Given the description of an element on the screen output the (x, y) to click on. 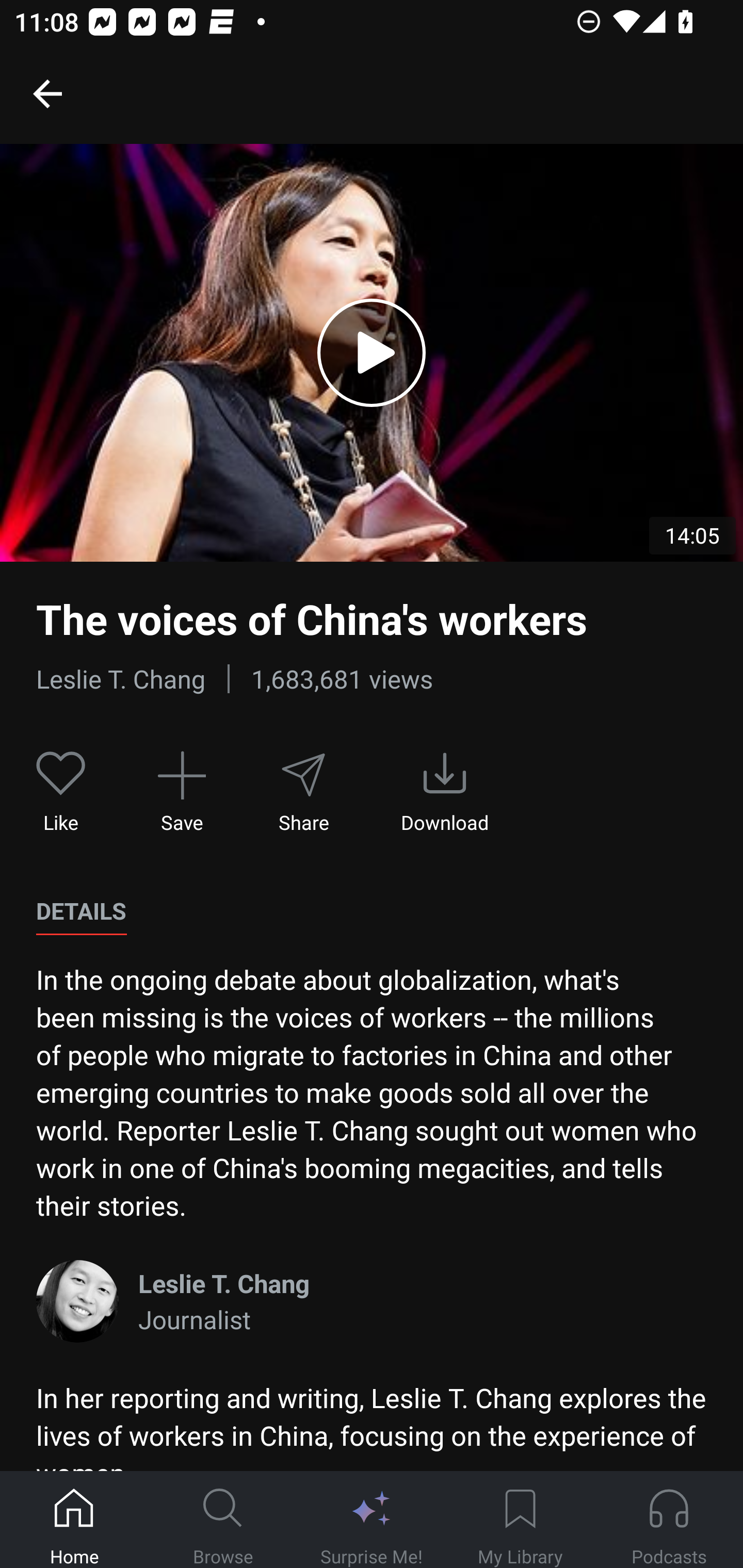
Home, back (47, 92)
Like (60, 793)
Save (181, 793)
Share (302, 793)
Download (444, 793)
DETAILS (80, 911)
Home (74, 1520)
Browse (222, 1520)
Surprise Me! (371, 1520)
My Library (519, 1520)
Podcasts (668, 1520)
